Given the description of an element on the screen output the (x, y) to click on. 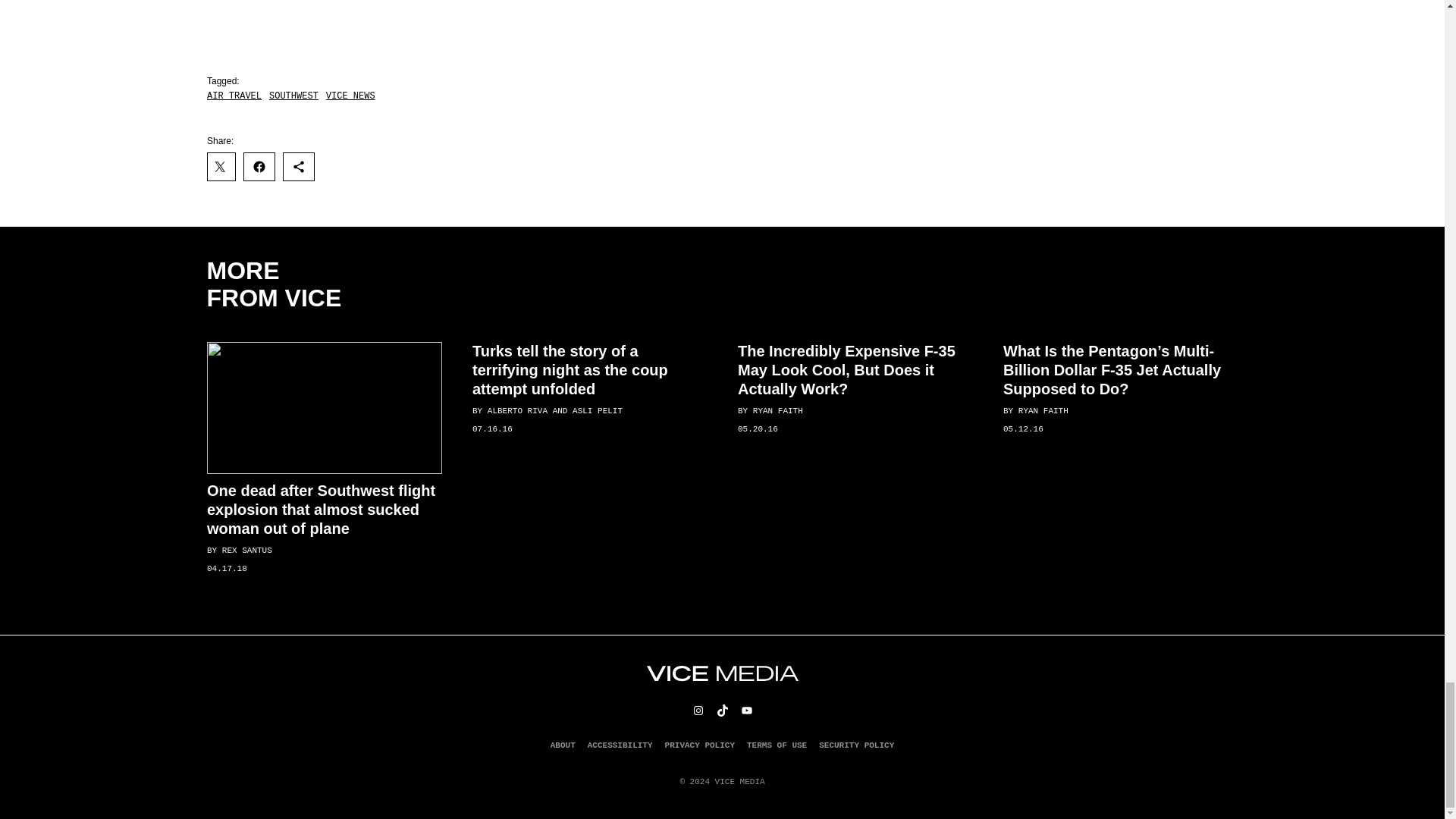
Posts by Rex Santus (245, 550)
Posts by Alberto Riva and Asli Pelit (553, 410)
Posts by Ryan Faith (777, 410)
